Given the description of an element on the screen output the (x, y) to click on. 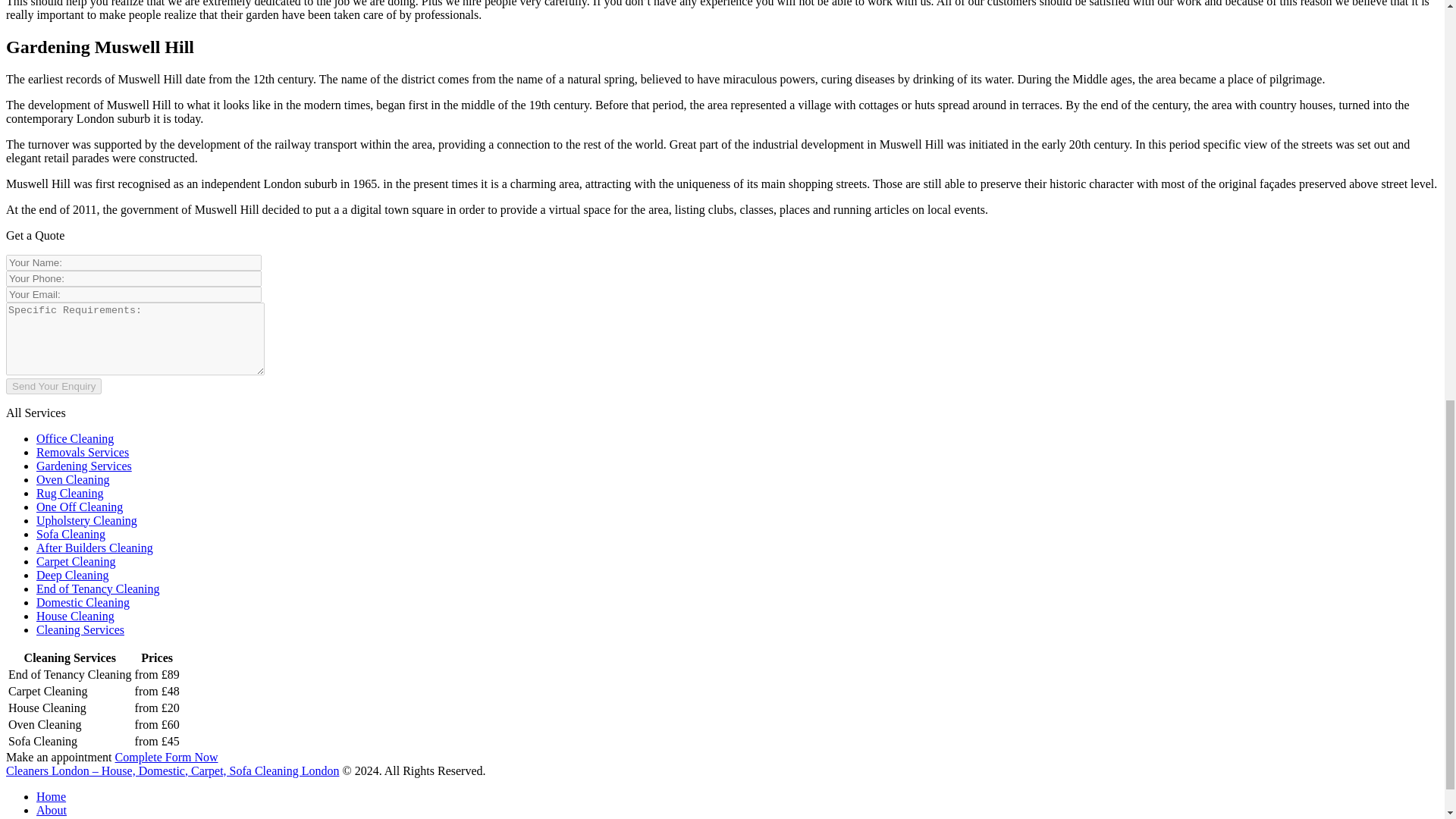
Upholstery Cleaning (86, 520)
Oven Cleaning (72, 479)
After Builders Cleaning (94, 547)
Send Your Enquiry (53, 385)
Gardening Services (84, 465)
Complete Form Now (166, 757)
Home (50, 796)
End of Tenancy Cleaning (98, 588)
House Cleaning (75, 615)
Send Your Enquiry (53, 385)
Contact Us (63, 818)
Cleaning Services (79, 629)
One Off Cleaning (79, 506)
About (51, 809)
Removals Services (82, 451)
